Given the description of an element on the screen output the (x, y) to click on. 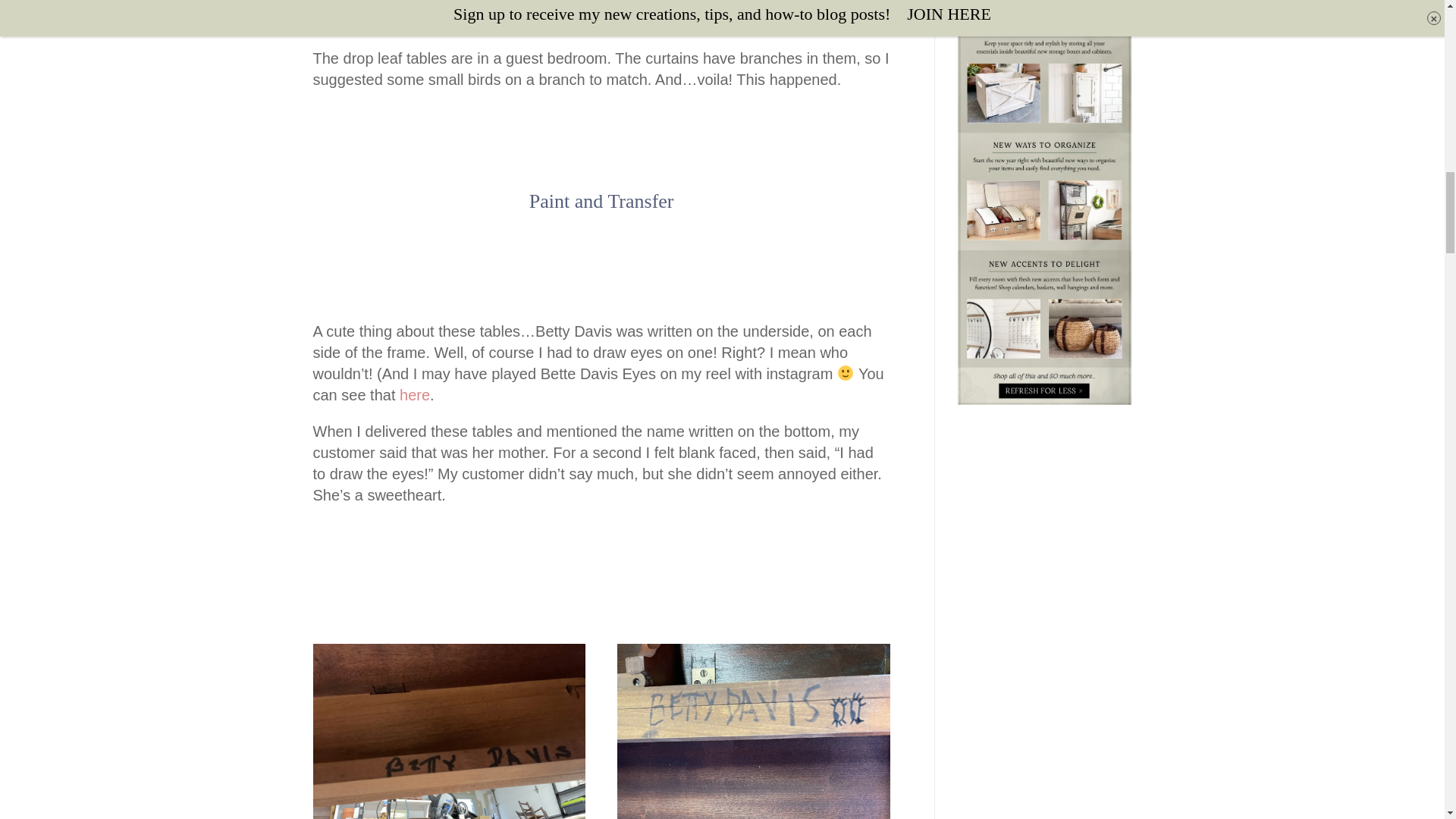
CB457ECA-33A6-48ED-A8CC-13C58A0F6B48 (449, 731)
30EC0466-4764-4C21-89A1-C248BDB7B5AF (753, 731)
you can see here (774, 4)
here (413, 394)
